Given the description of an element on the screen output the (x, y) to click on. 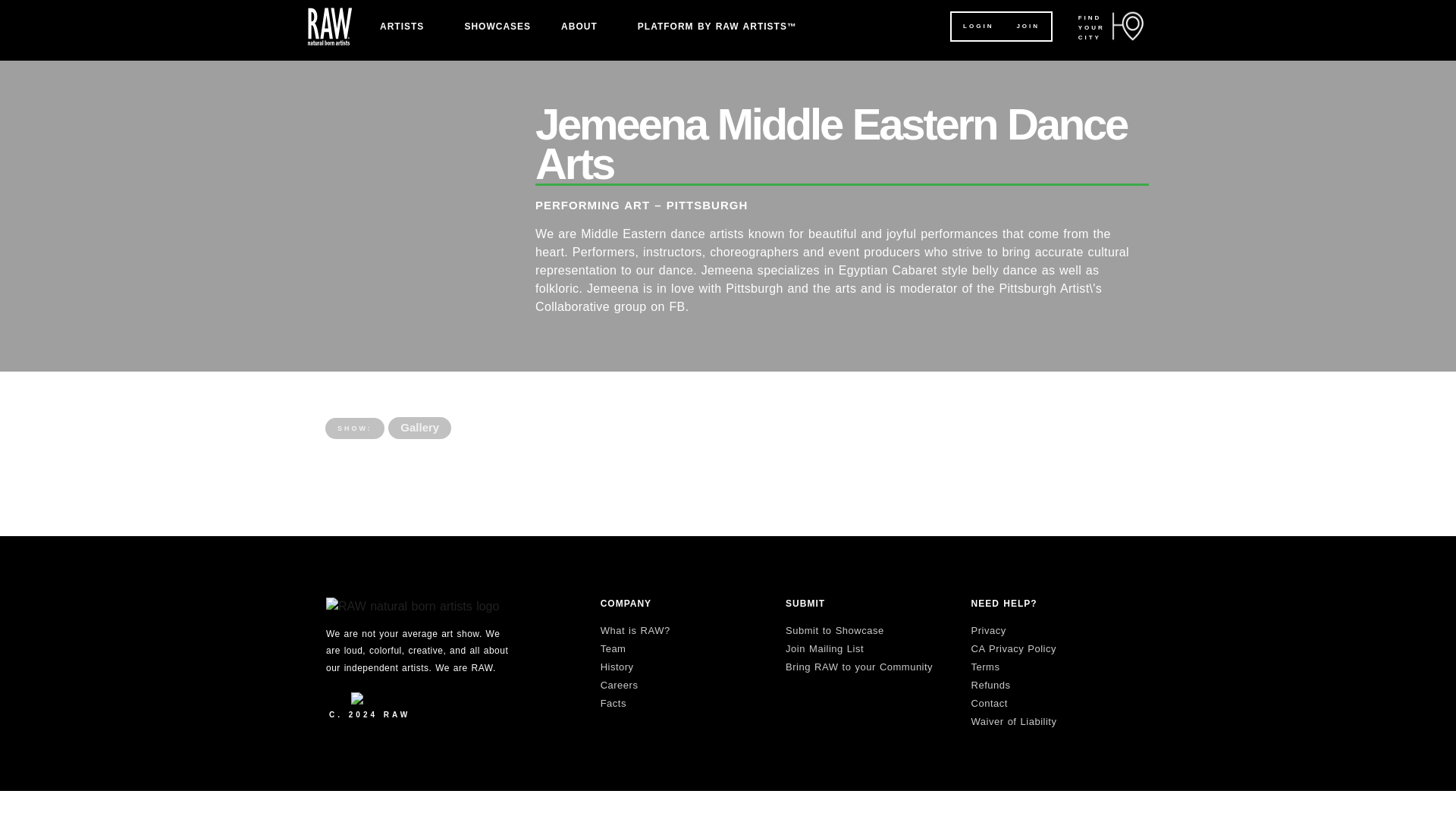
Careers (619, 685)
SHOWCASES (497, 26)
Privacy (988, 630)
ABOUT (583, 26)
What is RAW? (634, 630)
Refunds (990, 685)
Facts (612, 703)
Submit to Showcase (834, 630)
Gallery (419, 427)
SHOW: (354, 427)
Bring RAW to your Community (859, 666)
LOGIN (978, 26)
History (616, 666)
Terms (985, 666)
Team (612, 648)
